Given the description of an element on the screen output the (x, y) to click on. 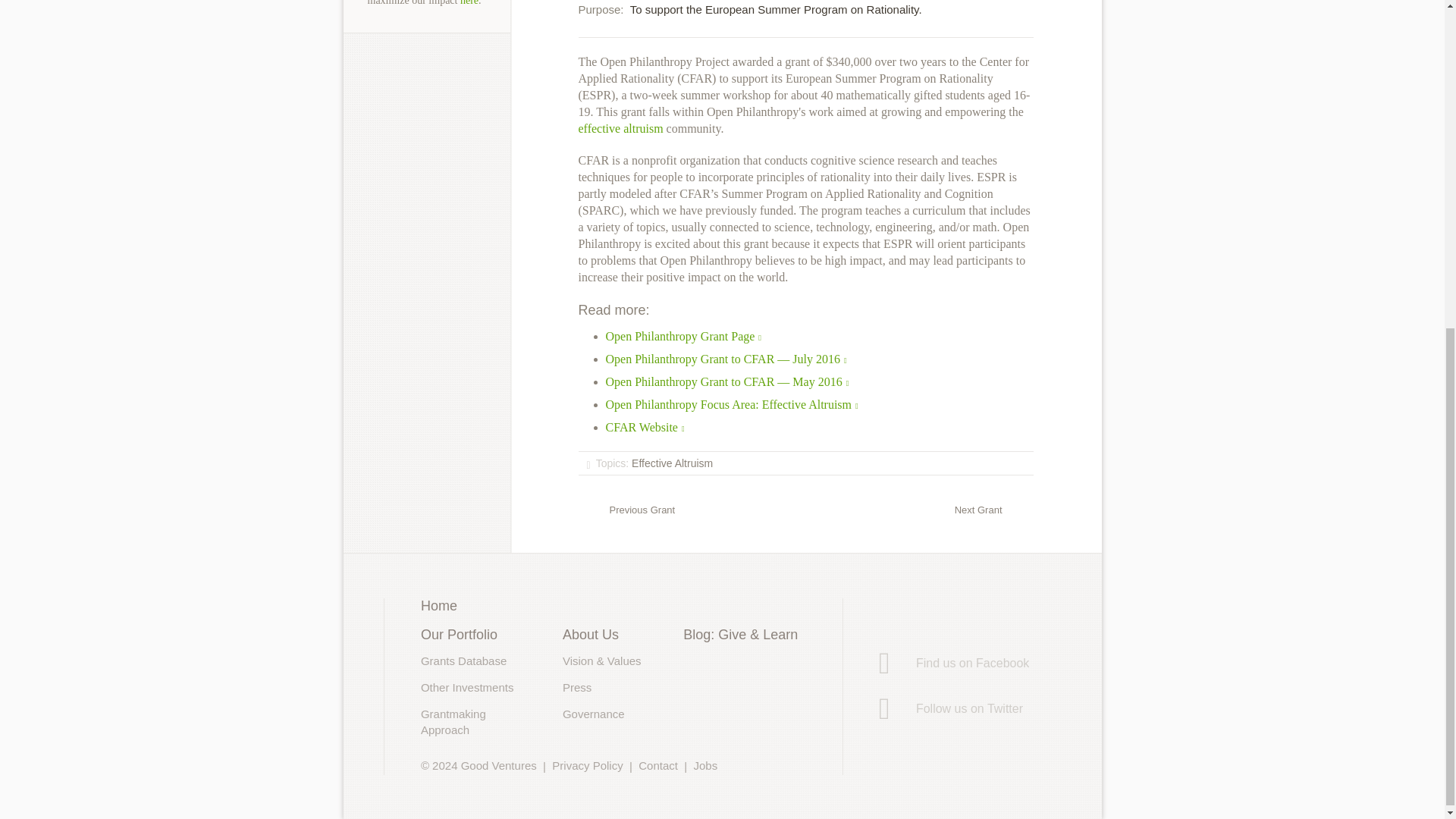
Open Philanthropy Grant Page (683, 336)
Open Philanthropy Focus Area: Effective Altruism (731, 404)
Grantmaking Approach (453, 721)
Next Grant (994, 508)
Press (576, 686)
Previous Grant (626, 508)
Effective Altruism (672, 463)
Grants Database (463, 660)
Our Portfolio (458, 634)
effective altruism (620, 128)
